Given the description of an element on the screen output the (x, y) to click on. 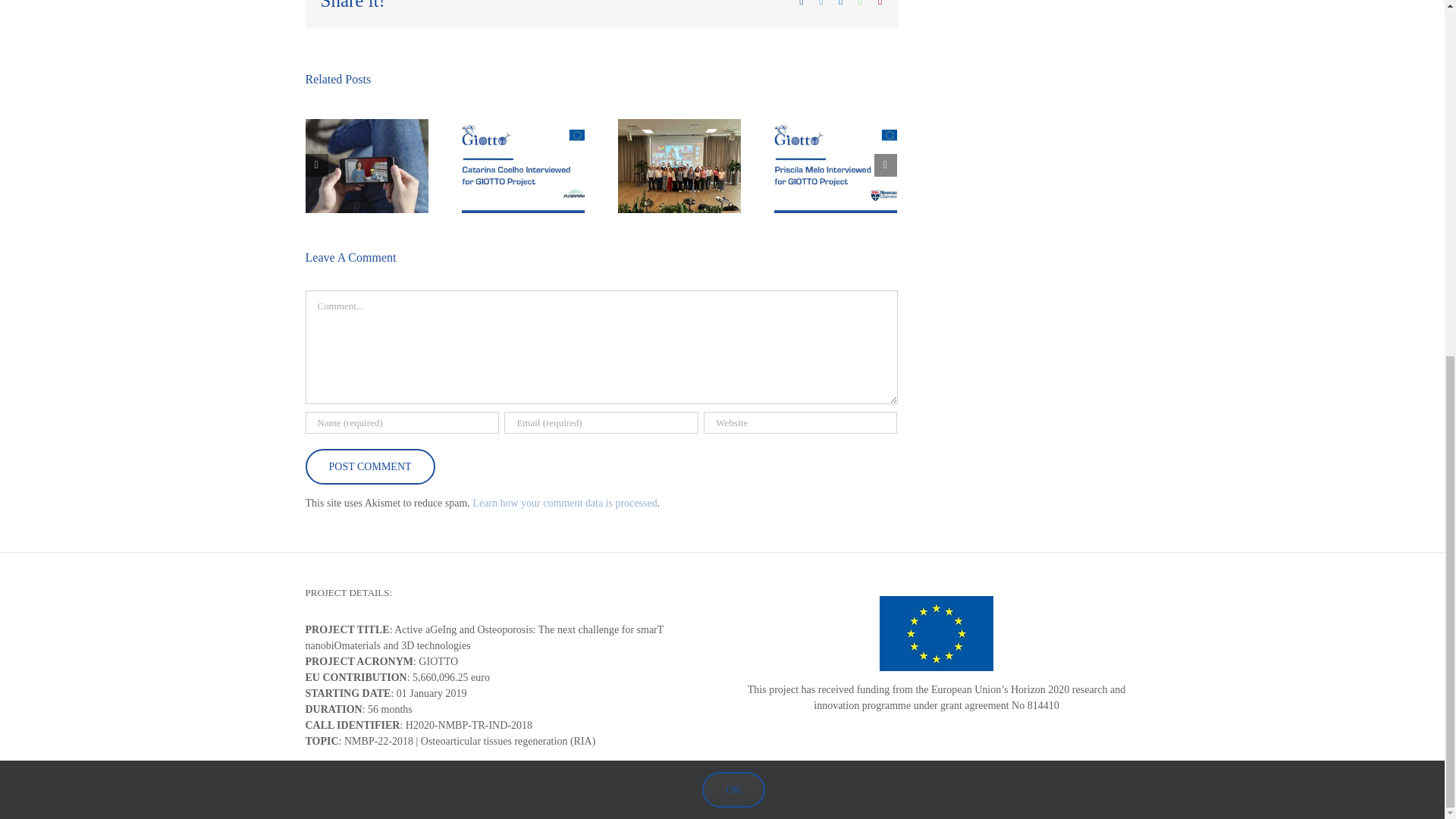
Post Comment (368, 466)
